Given the description of an element on the screen output the (x, y) to click on. 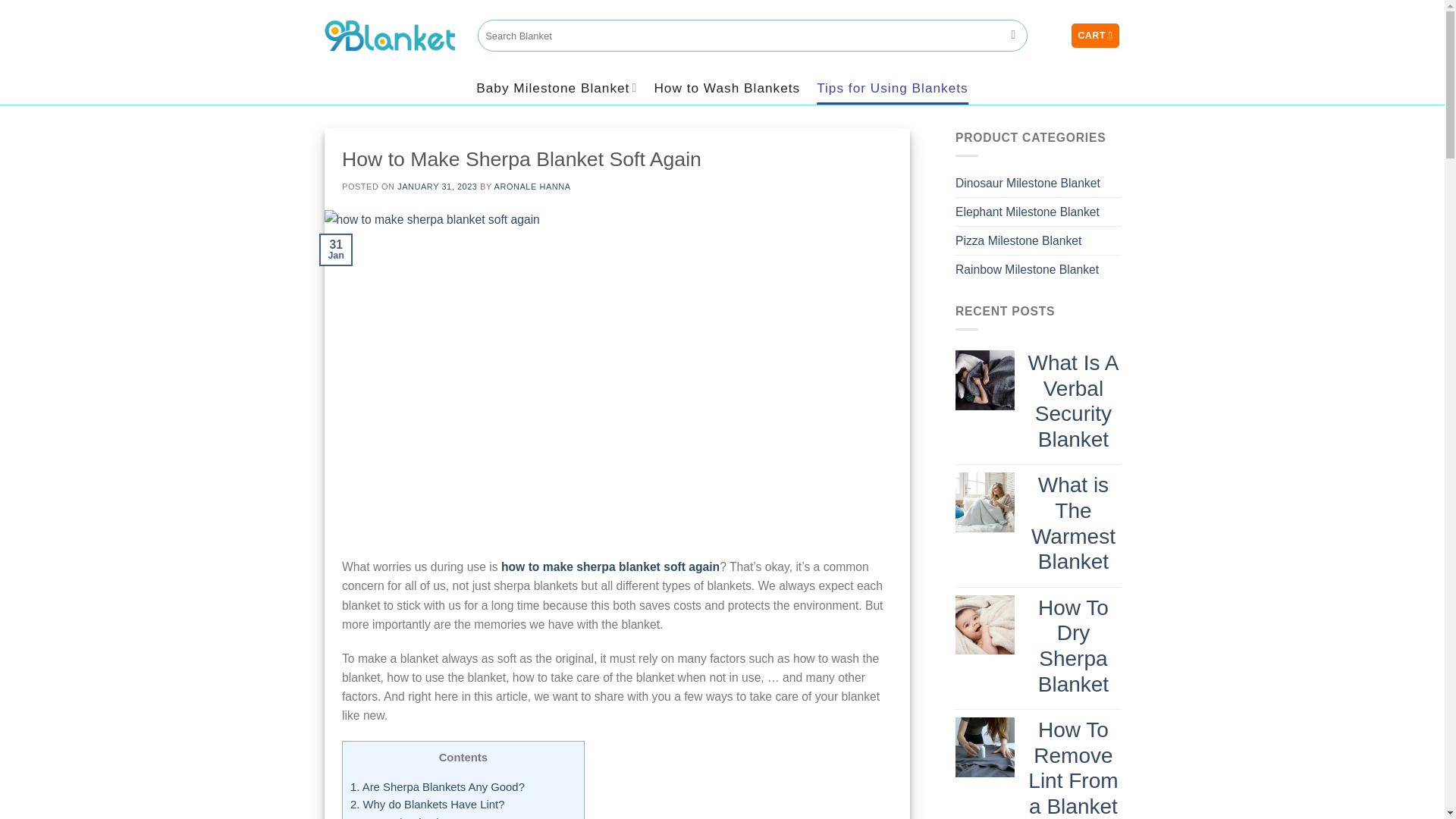
Tips for Using Blankets (892, 87)
How to Wash Blankets (726, 87)
ARONALE HANNA (532, 185)
CART (1095, 35)
2.1. What is Lint? (410, 817)
Cart (1095, 35)
What is The Warmest Blanket (1072, 523)
How To Remove Lint From a Blanket (1072, 768)
Baby Milestone Blanket (556, 87)
Search (1013, 34)
How To Dry Sherpa Blanket (1072, 645)
JANUARY 31, 2023 (437, 185)
2. Why do Blankets Have Lint? (426, 804)
1. Are Sherpa Blankets Any Good? (437, 787)
